Given the description of an element on the screen output the (x, y) to click on. 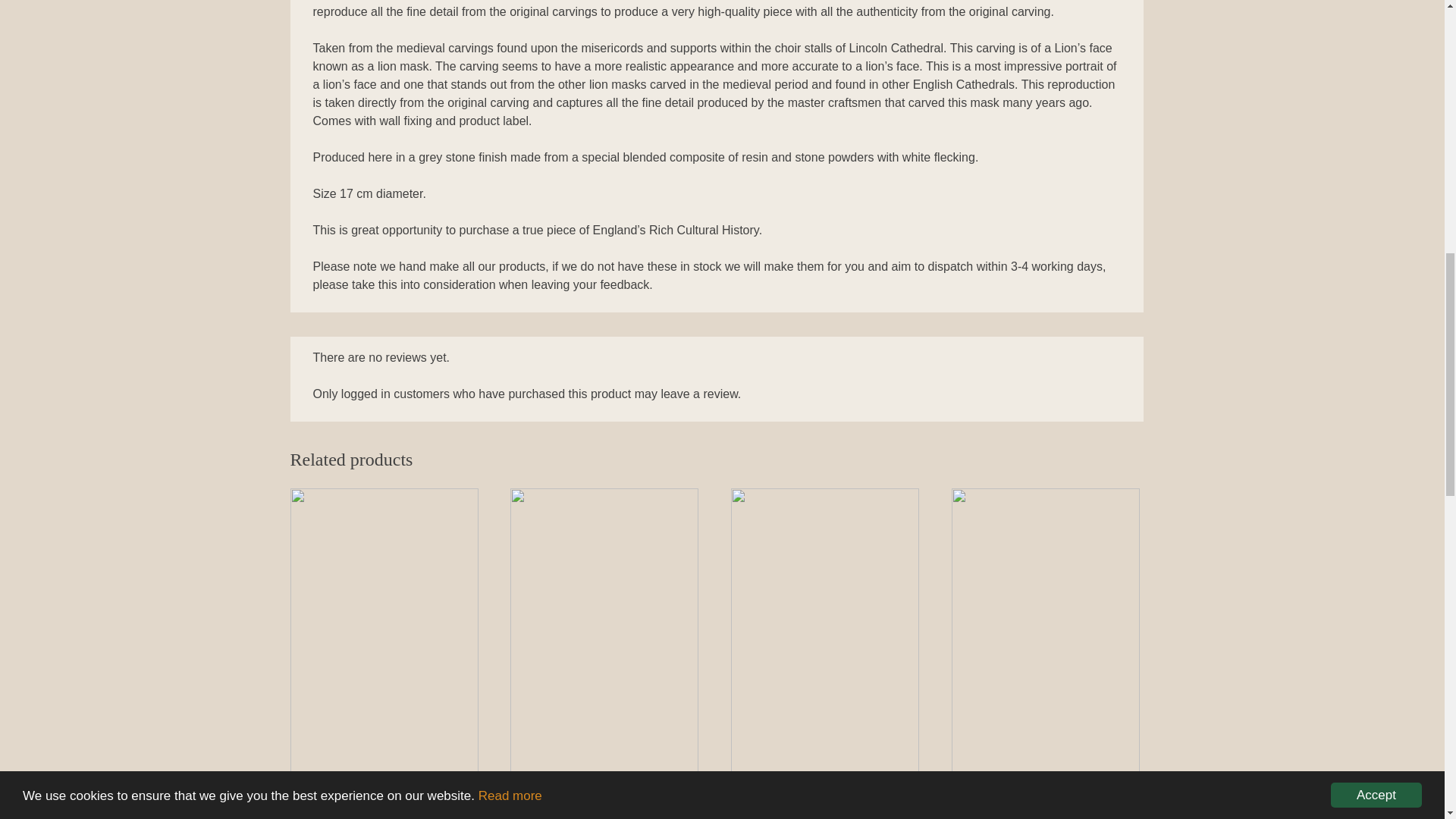
Read more (510, 40)
Accept (1376, 49)
